Given the description of an element on the screen output the (x, y) to click on. 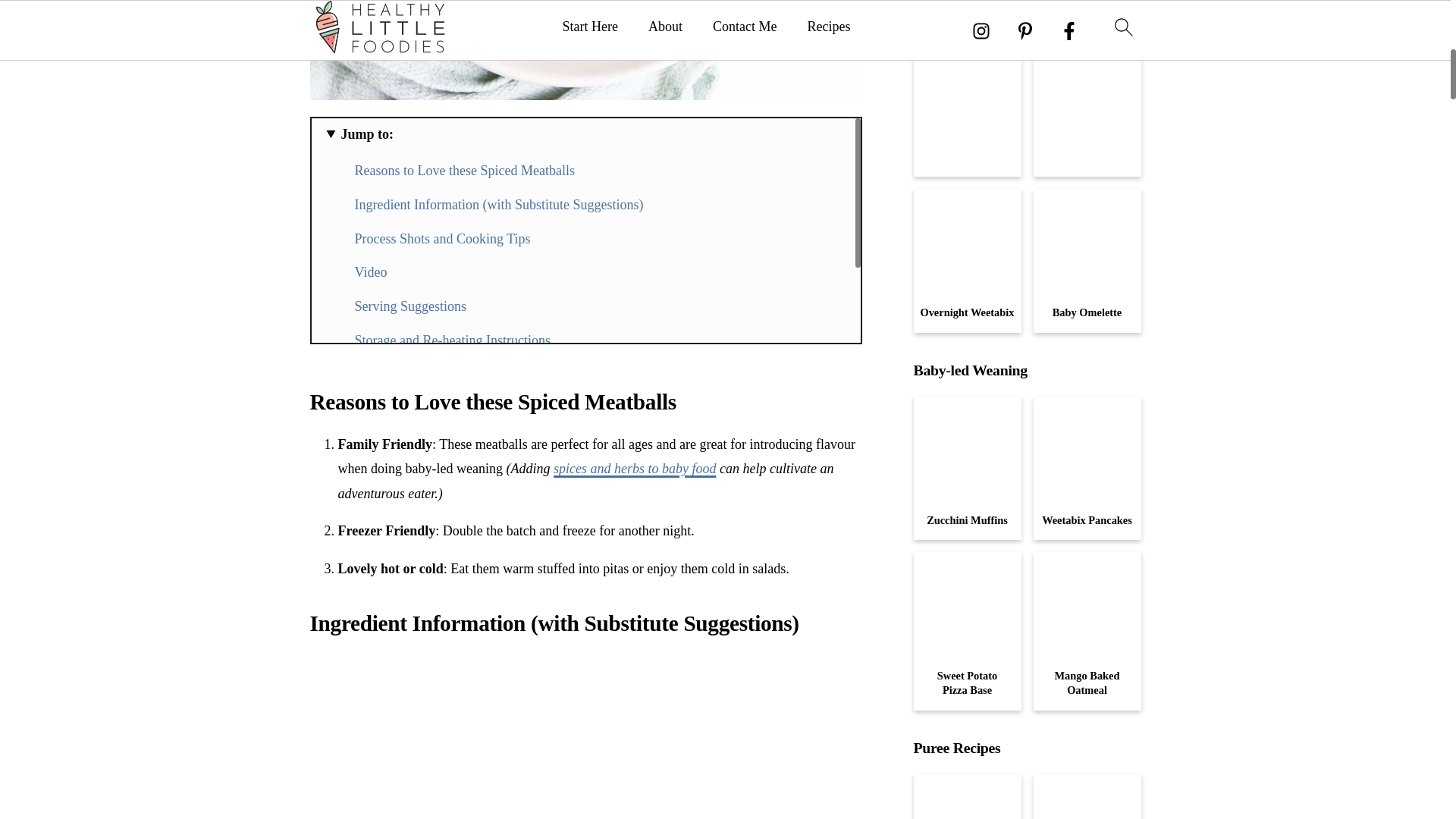
Reasons to Love these Spiced Meatballs (465, 170)
